Given the description of an element on the screen output the (x, y) to click on. 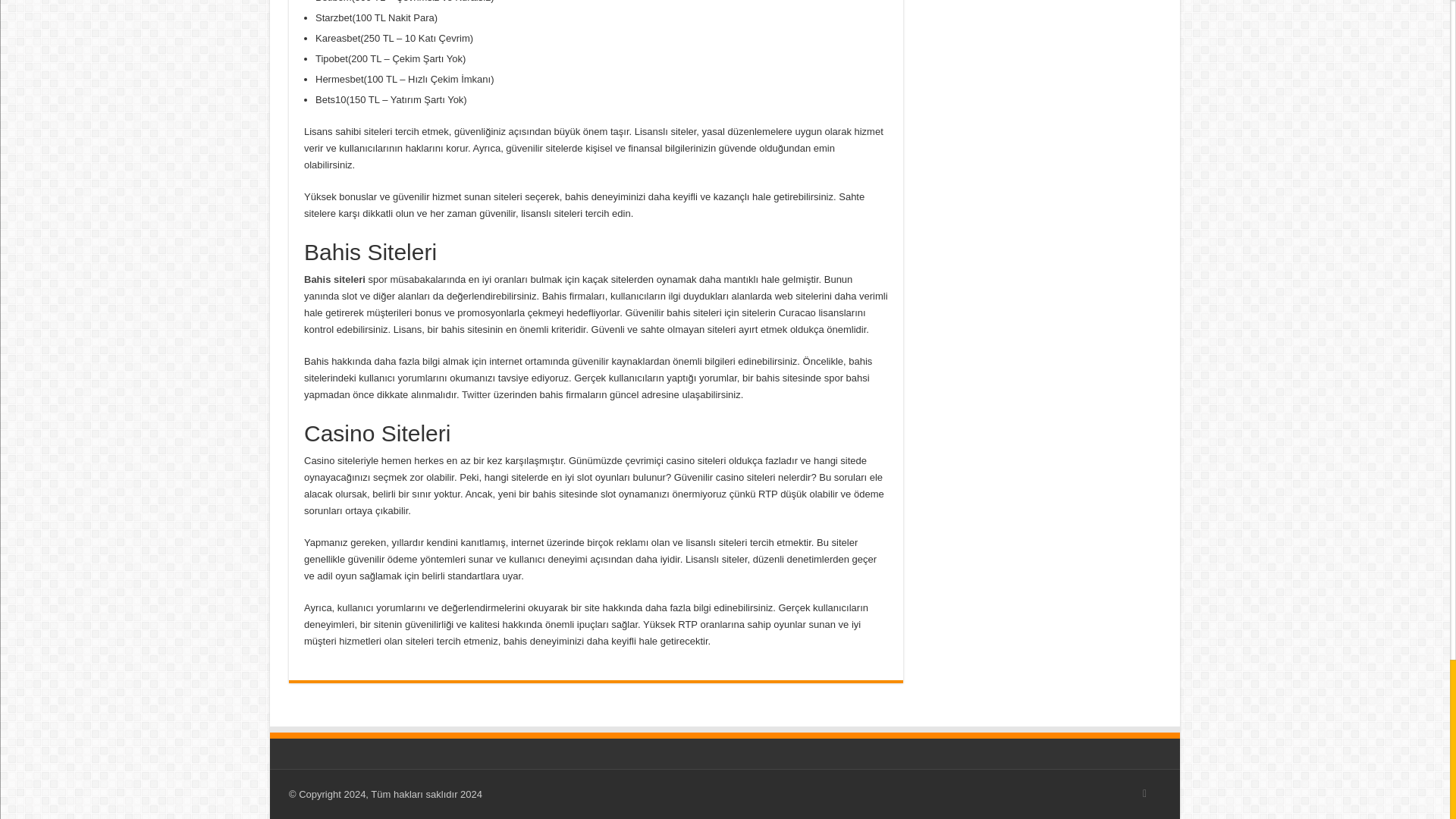
Bahis siteleri (334, 278)
Twitter (475, 393)
